Given the description of an element on the screen output the (x, y) to click on. 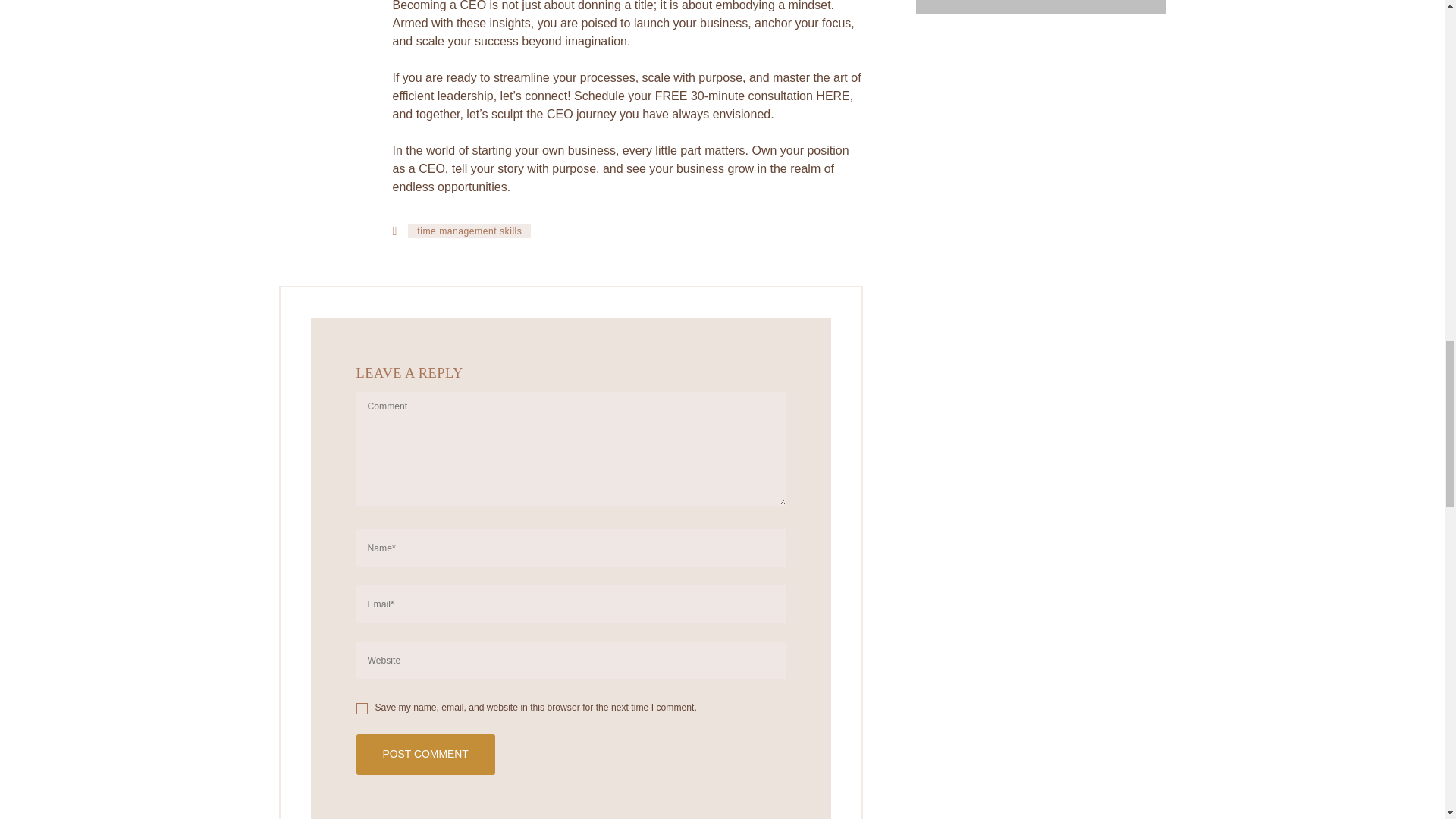
Post Comment (425, 753)
